Given the description of an element on the screen output the (x, y) to click on. 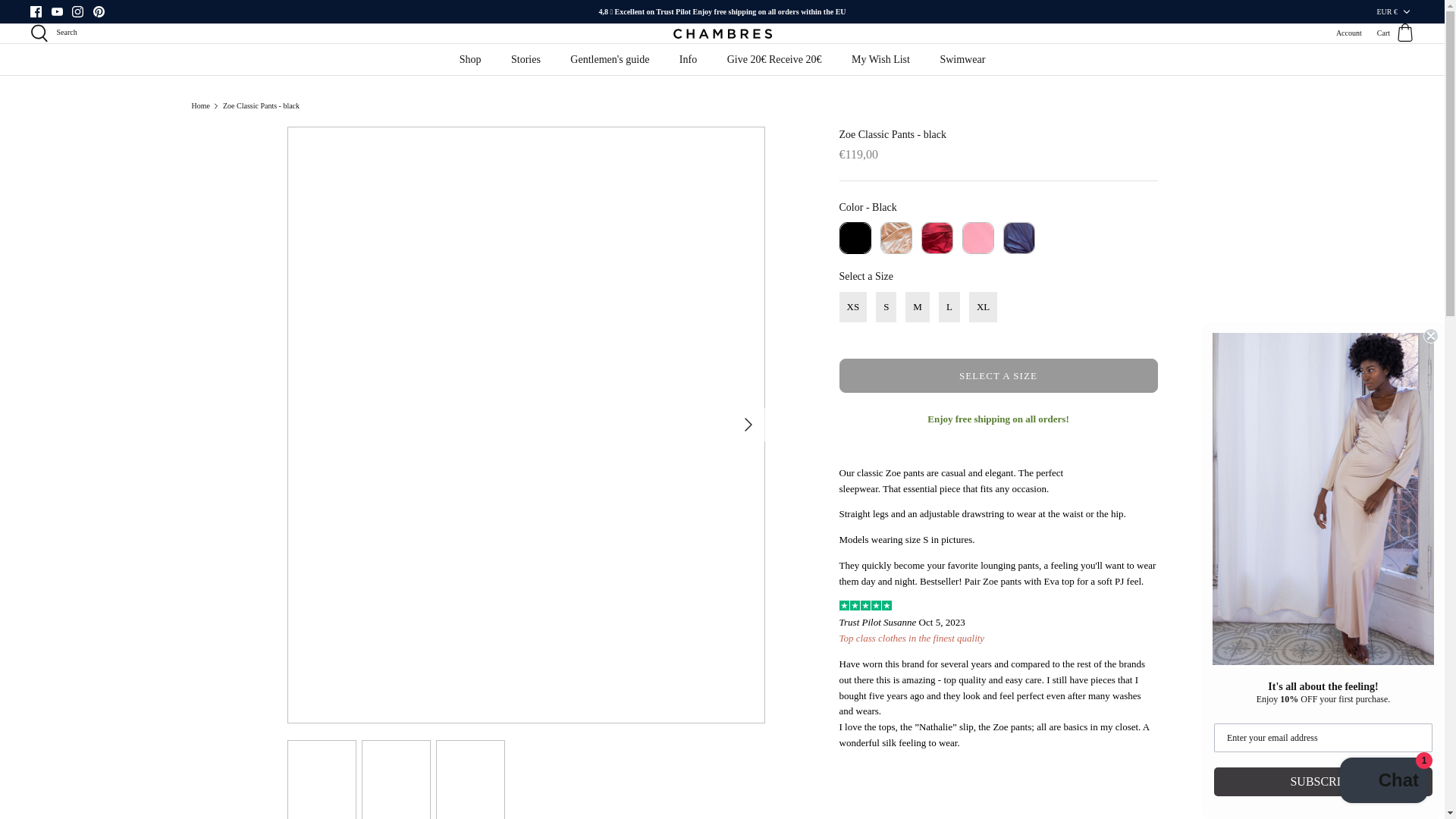
Pinterest (98, 11)
Instagram (76, 11)
RIGHT (747, 424)
Search (53, 33)
Down (1406, 11)
Thursday, October 5, 2023 at 08:33:25 AM (900, 622)
Account (1348, 33)
Cart (1395, 33)
Youtube (56, 11)
Shop (470, 59)
ChambresSweden (721, 33)
Facebook (36, 11)
Instagram (76, 11)
Youtube (56, 11)
Shopify online store chat (1383, 781)
